Given the description of an element on the screen output the (x, y) to click on. 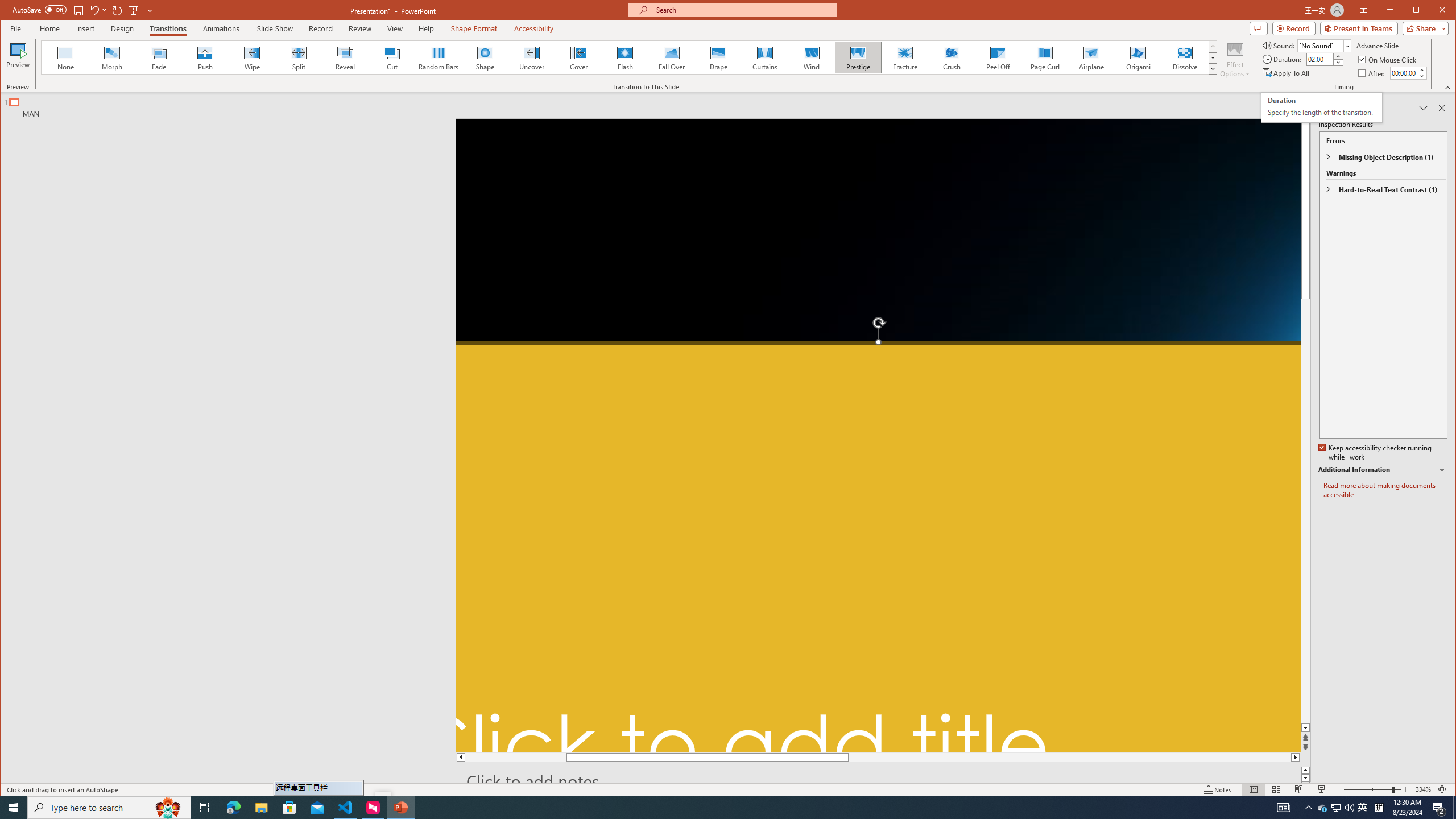
Dissolve (1184, 57)
Peel Off (998, 57)
